Given the description of an element on the screen output the (x, y) to click on. 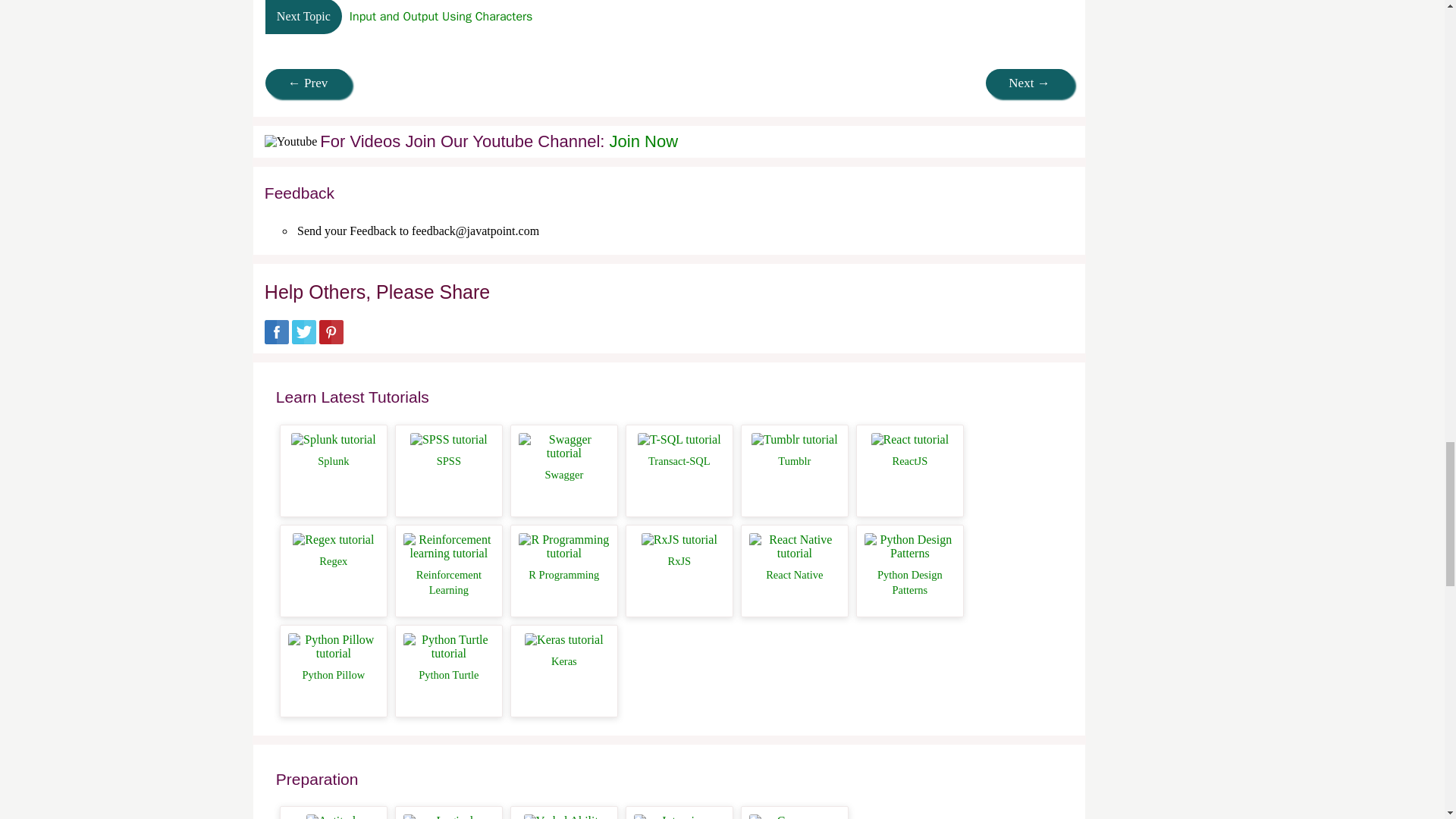
Twitter (303, 339)
Facebook (276, 339)
Pinterest (330, 339)
